Given the description of an element on the screen output the (x, y) to click on. 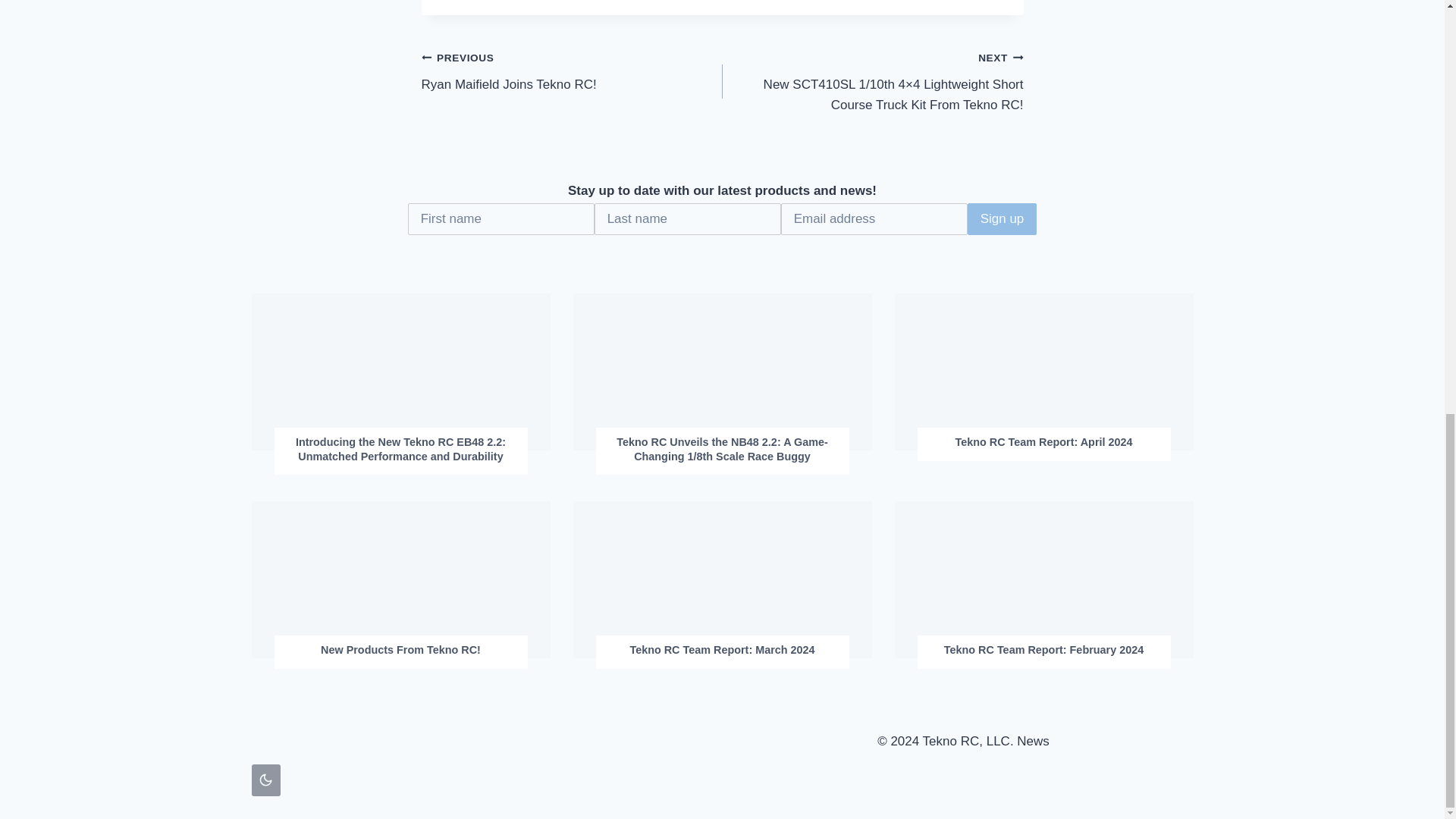
Sign up (1002, 219)
Sign up (572, 70)
Tekno RC Team Report: April 2024 (1002, 219)
Tekno RC Team Report: March 2024 (1043, 441)
New Products From Tekno RC! (722, 649)
Tekno RC Team Report: February 2024 (400, 649)
